Given the description of an element on the screen output the (x, y) to click on. 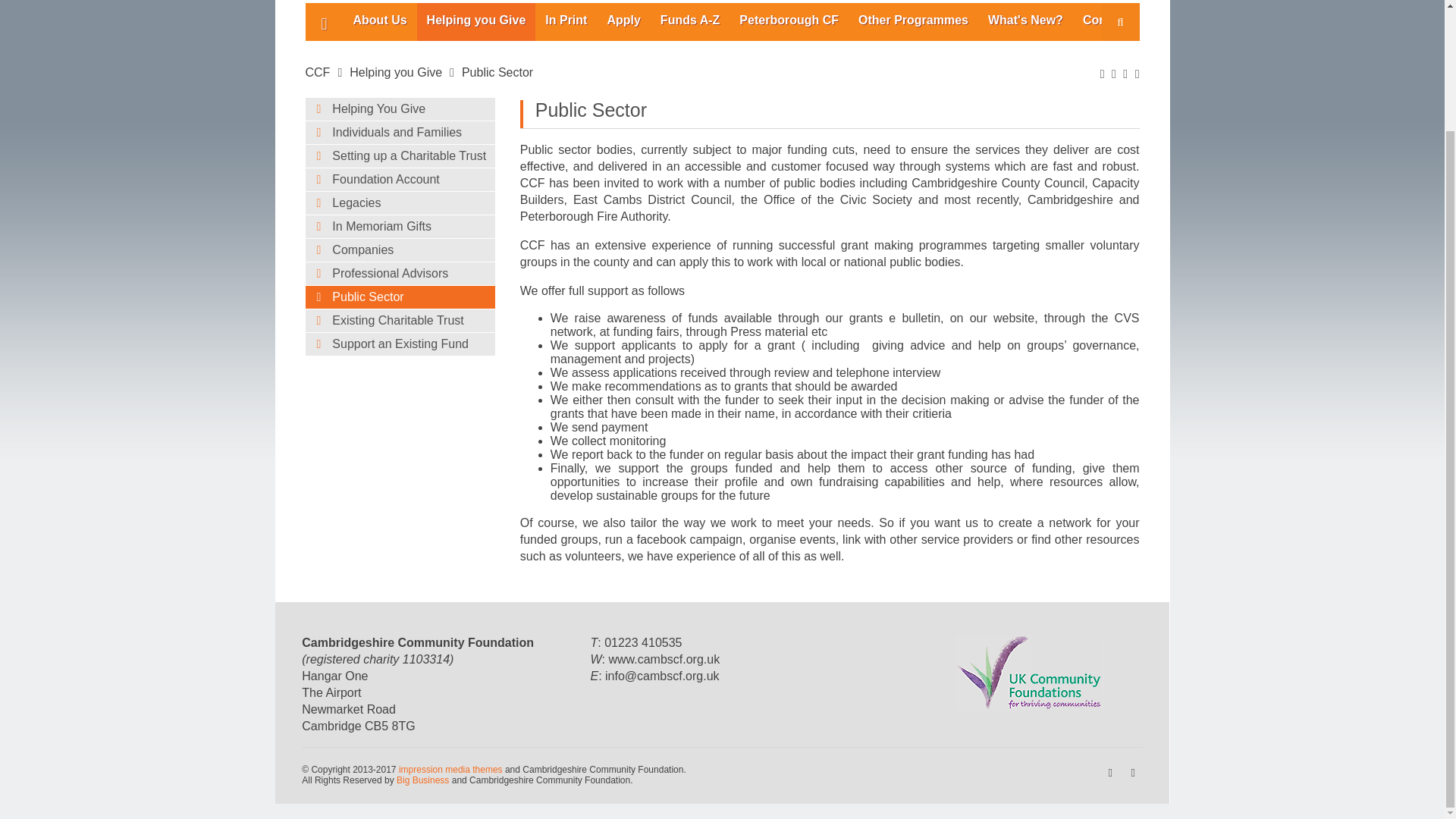
Foundation Account (399, 179)
Save article as PDF (1114, 73)
Funds A-Z (690, 21)
Contact (1105, 21)
What's New? (1025, 21)
PCF (788, 21)
Legacies (399, 202)
Helping you Give (395, 72)
About Us (379, 21)
impression media themes (450, 769)
Helping You Give (399, 108)
Apply (622, 21)
Helping You Give (399, 108)
Share on Twitter (1137, 73)
Existing Charitable Trust (399, 320)
